Given the description of an element on the screen output the (x, y) to click on. 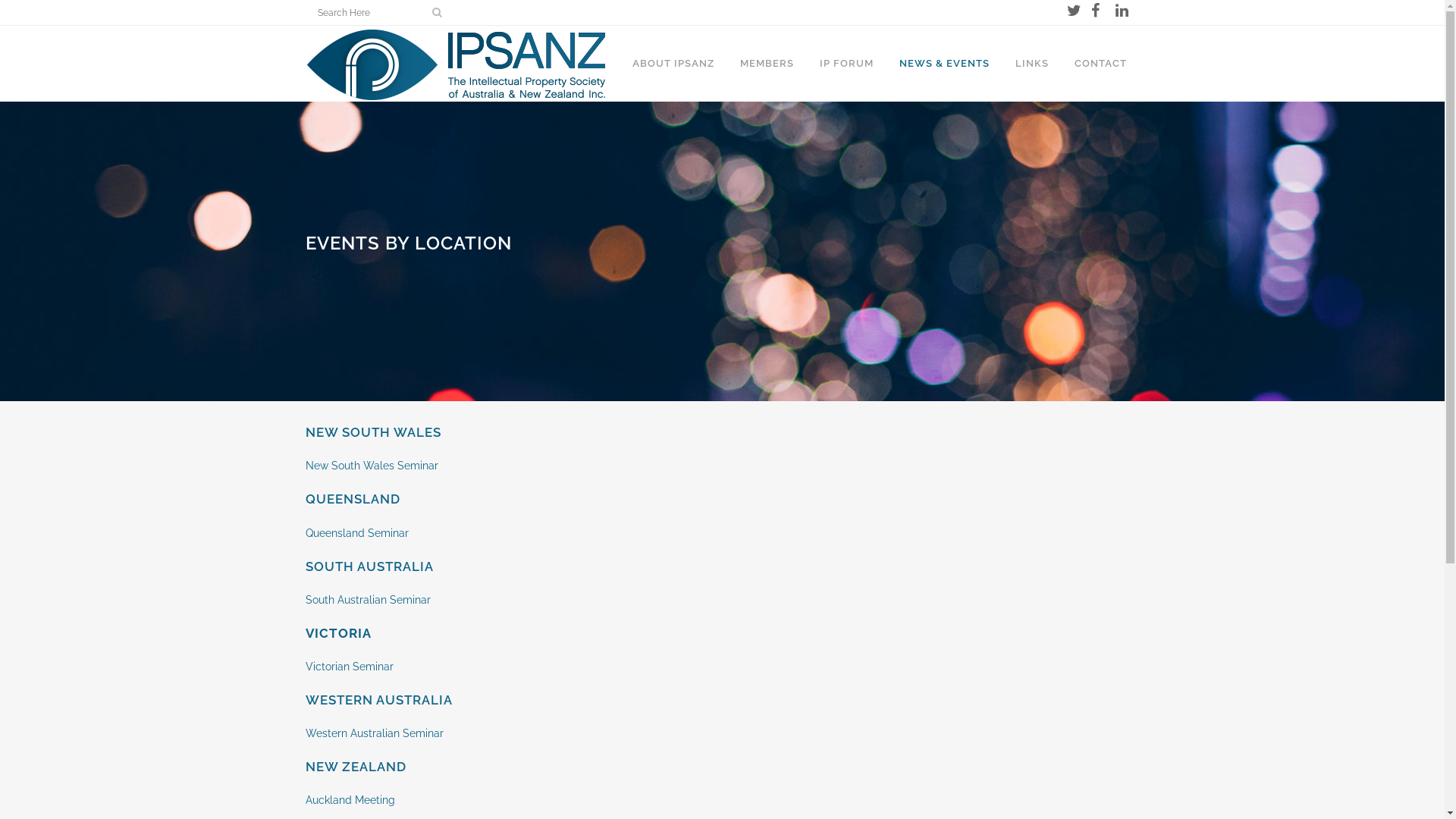
MEMBERS Element type: text (766, 63)
CONTACT Element type: text (1100, 63)
NEWS & EVENTS Element type: text (943, 63)
Victorian Seminar  Element type: text (349, 666)
South Australian Seminar Element type: text (366, 599)
Auckland Meeting Element type: text (349, 799)
Queensland Seminar Element type: text (355, 532)
IP FORUM Element type: text (846, 63)
New South Wales Seminar Element type: text (370, 465)
Western Australian Seminar Element type: text (373, 733)
ABOUT IPSANZ Element type: text (672, 63)
LINKS Element type: text (1031, 63)
